Given the description of an element on the screen output the (x, y) to click on. 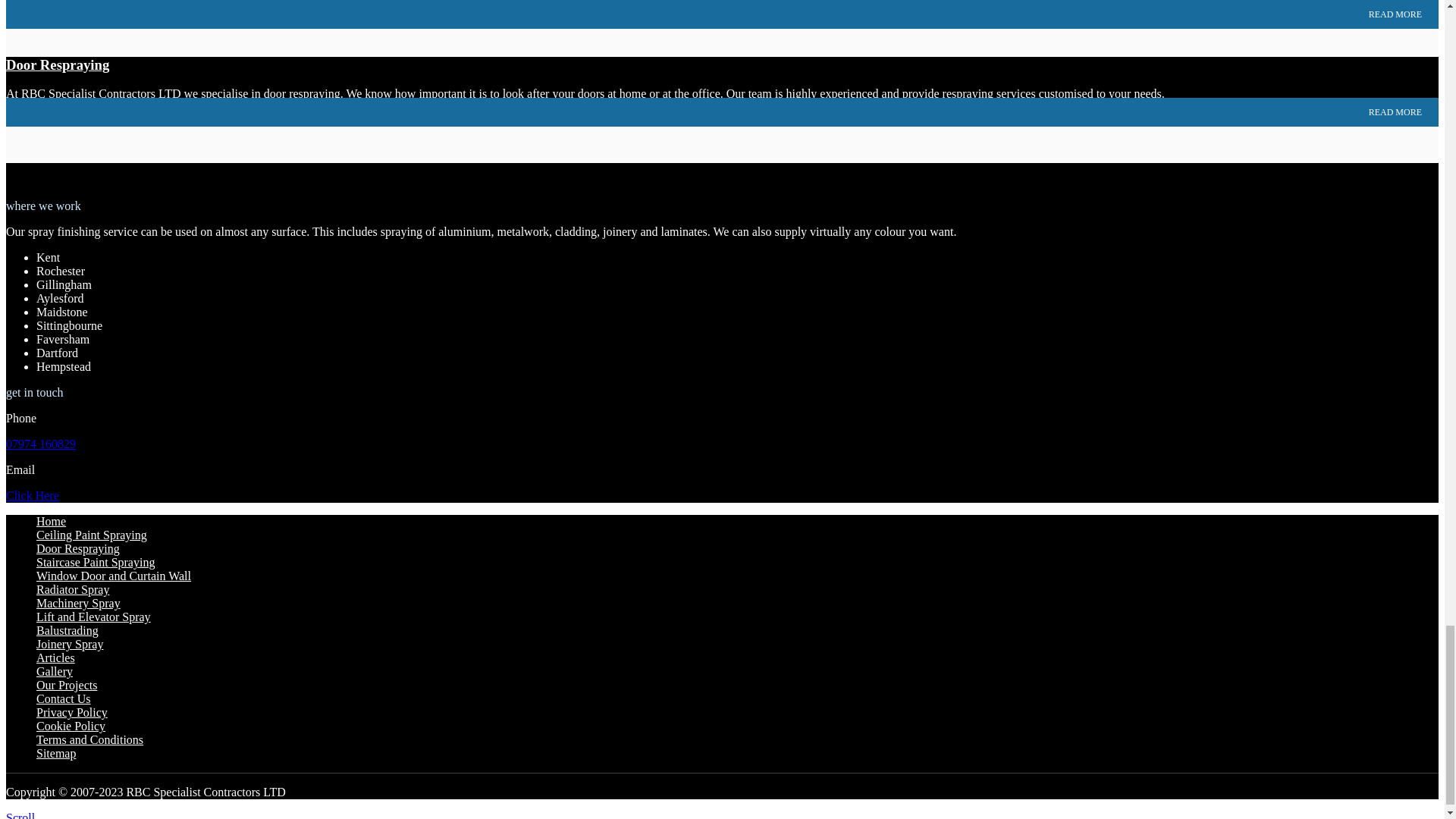
Home (50, 521)
07974 160829 (40, 443)
Door Respraying (57, 64)
Ceiling Paint Spraying (91, 534)
Click Here (32, 495)
